Given the description of an element on the screen output the (x, y) to click on. 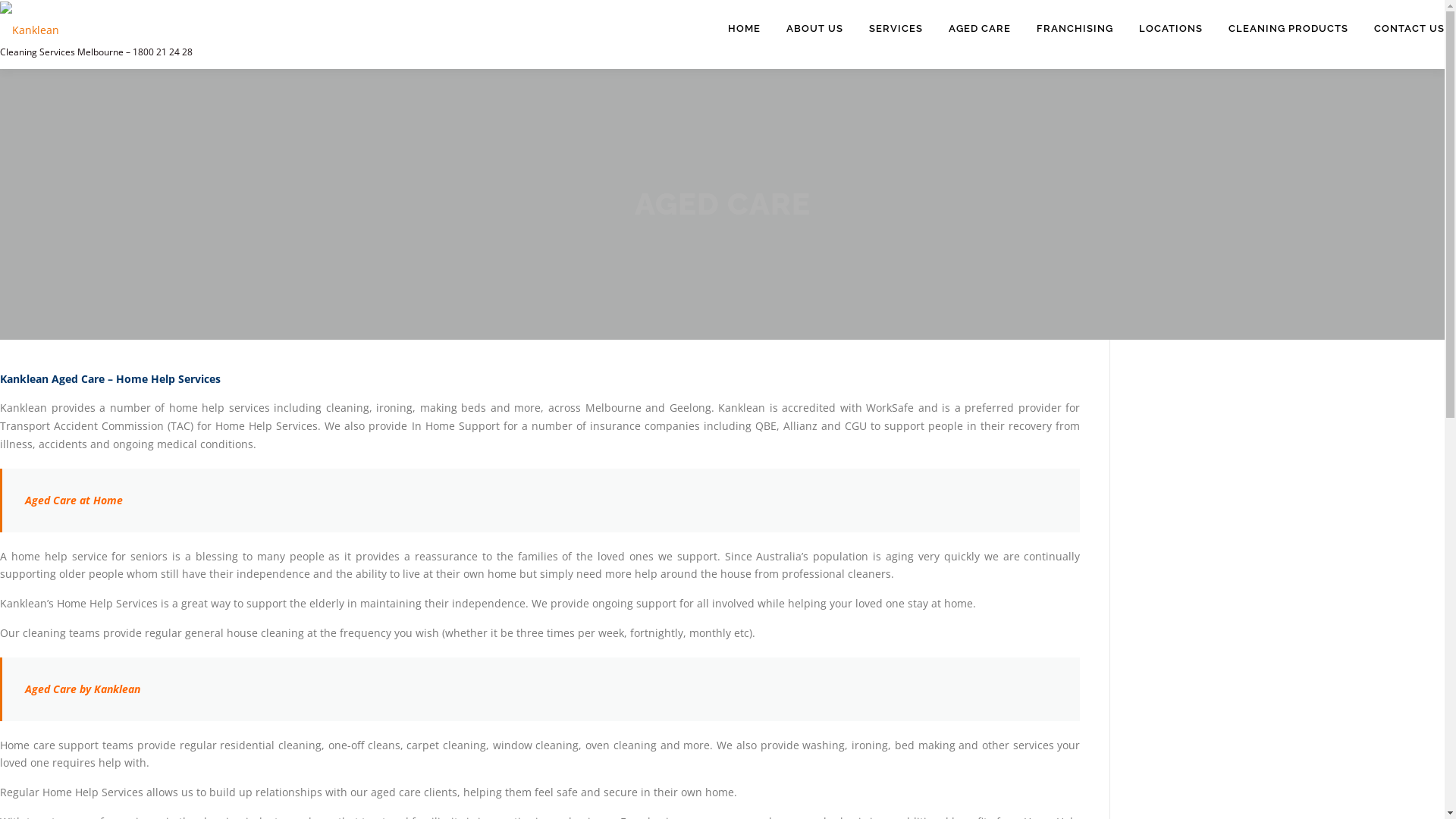
SERVICES Element type: text (895, 28)
LOCATIONS Element type: text (1170, 28)
CLEANING PRODUCTS Element type: text (1288, 28)
CONTACT US Element type: text (1402, 28)
AGED CARE Element type: text (979, 28)
HOME Element type: text (744, 28)
Skip to content Element type: text (37, 9)
FRANCHISING Element type: text (1074, 28)
ABOUT US Element type: text (814, 28)
